Given the description of an element on the screen output the (x, y) to click on. 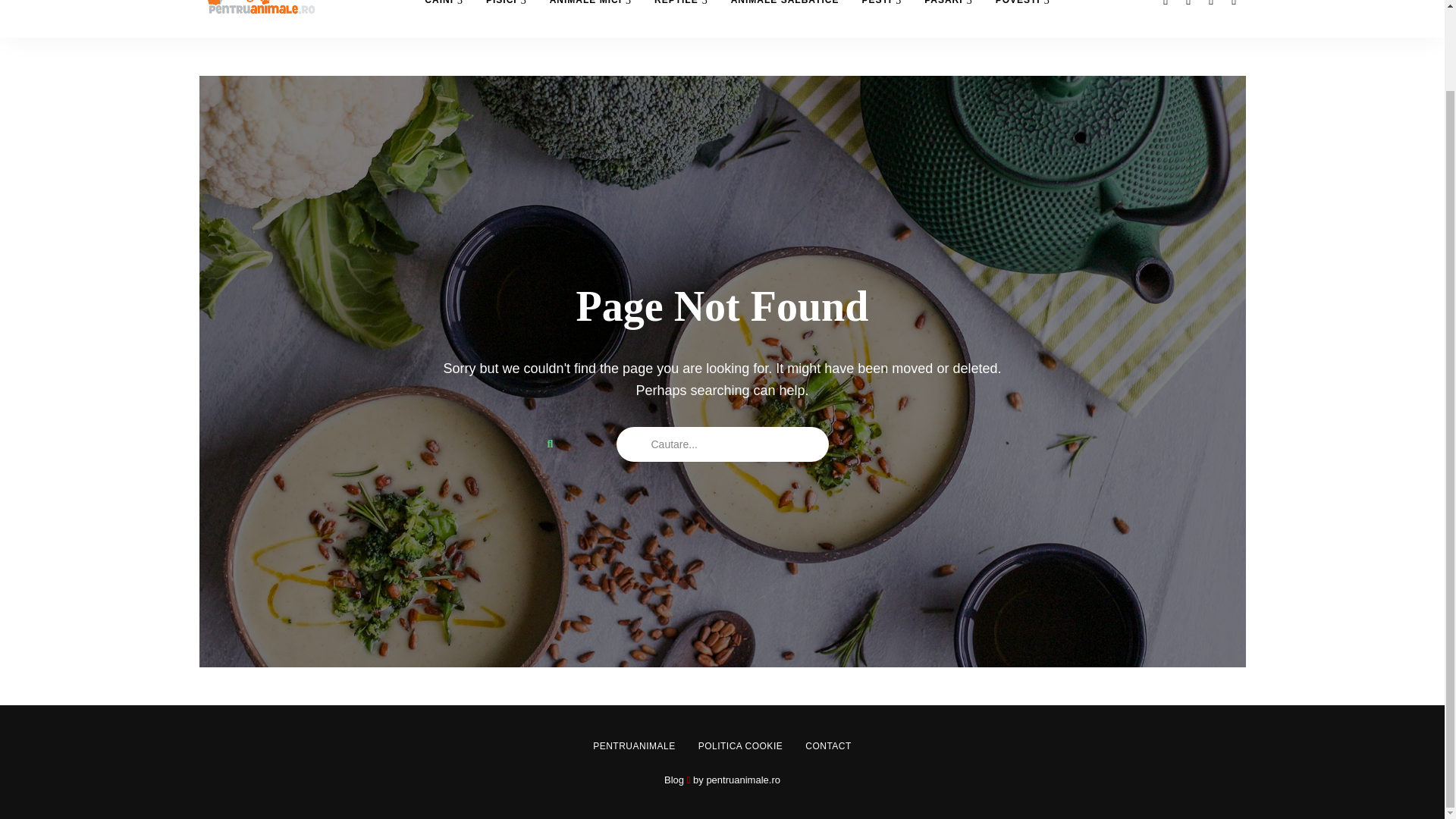
ANIMALE MICI (590, 18)
PESTI (881, 18)
CAINI (443, 18)
PISICI (506, 18)
PASARI (948, 18)
REPTILE (681, 18)
ANIMALE SALBATICE (784, 18)
POVESTI (1022, 18)
